Given the description of an element on the screen output the (x, y) to click on. 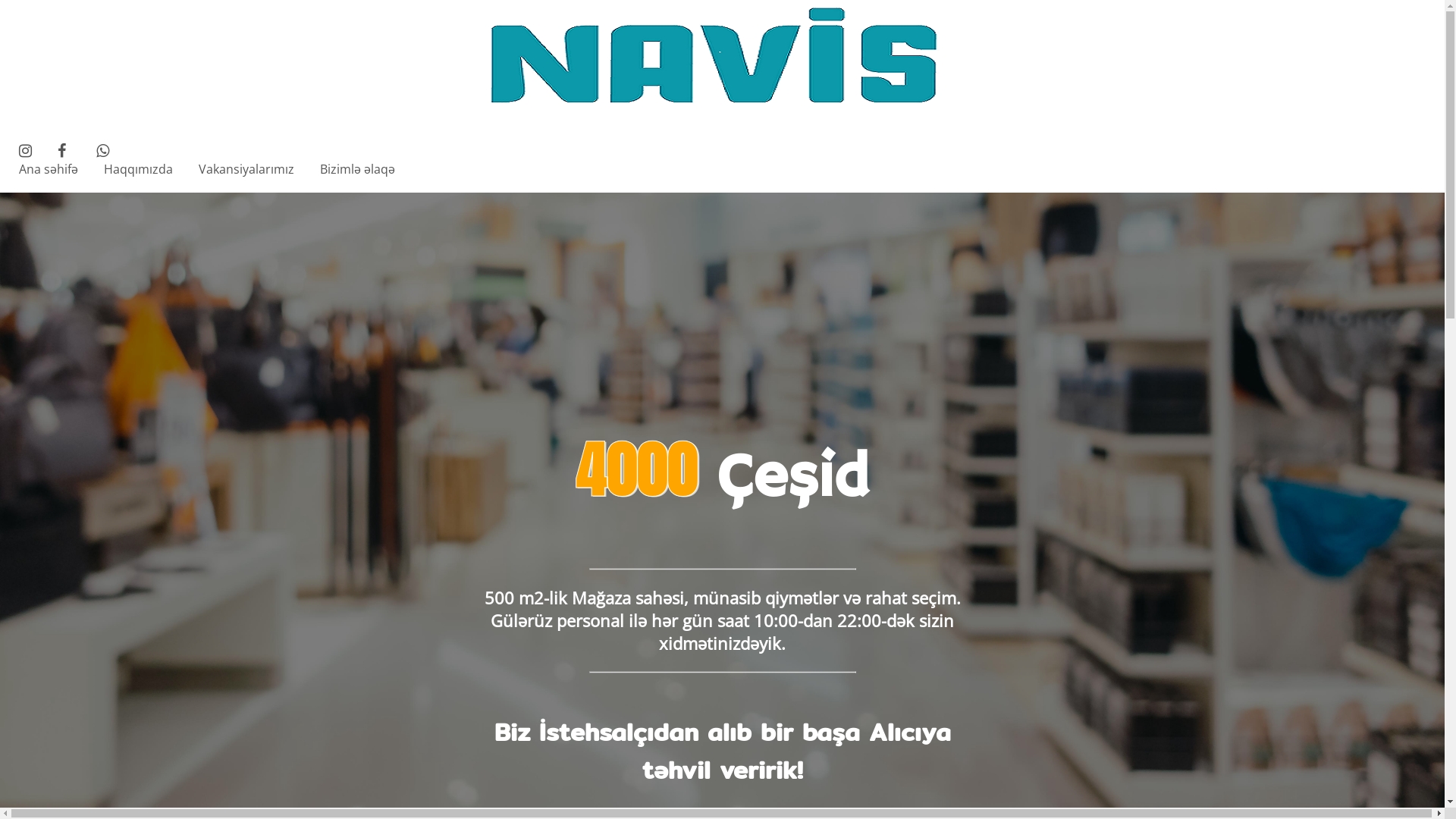
Navis.az Element type: hover (722, 56)
